Given the description of an element on the screen output the (x, y) to click on. 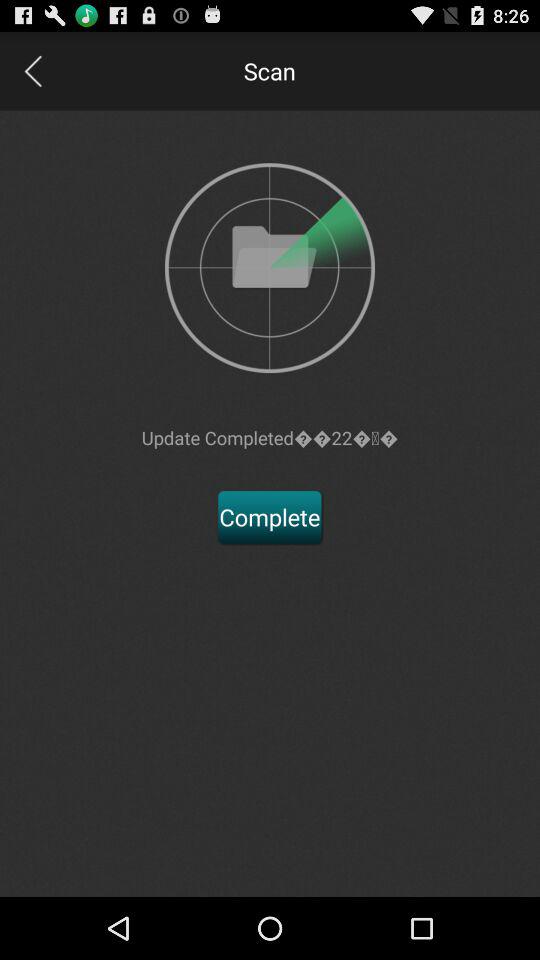
button to go to previous (32, 70)
